Given the description of an element on the screen output the (x, y) to click on. 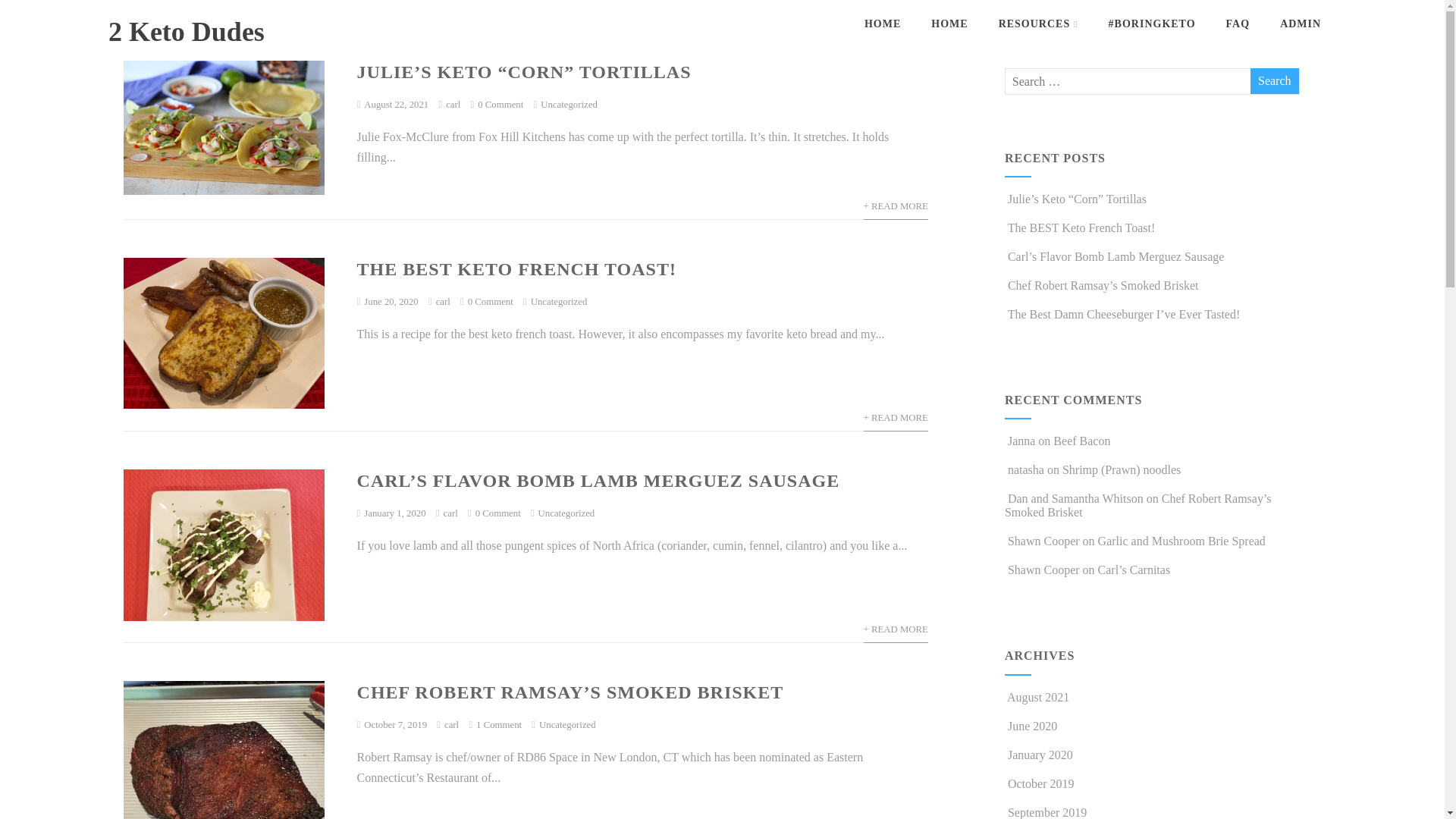
October 7, 2019 Element type: text (395, 724)
+ READ MORE Element type: text (895, 417)
0 Comment Element type: text (500, 104)
1 Comment Element type: text (498, 724)
Search Element type: text (1274, 81)
FAQ Element type: text (1238, 23)
The BEST Keto French Toast! Element type: text (1079, 227)
August 22, 2021 Element type: text (396, 104)
January 1, 2020 Element type: text (394, 513)
#BORINGKETO Element type: text (1152, 23)
Shrimp (Prawn) noodles Element type: text (1121, 469)
carl Element type: text (443, 301)
RESOURCES Element type: text (1038, 23)
+ READ MORE Element type: text (895, 629)
August 2021 Element type: text (1038, 696)
0 Comment Element type: text (497, 513)
HOME Element type: text (882, 23)
carl Element type: text (450, 513)
June 20, 2020 Element type: text (390, 301)
THE BEST KETO FRENCH TOAST! Element type: text (516, 269)
carl Element type: text (451, 724)
January 2020 Element type: text (1040, 754)
HOME Element type: text (949, 23)
0 Comment Element type: text (490, 301)
ADMIN Element type: text (1300, 23)
June 2020 Element type: text (1032, 725)
2 Keto Dudes Element type: text (186, 31)
October 2019 Element type: text (1040, 783)
Dan and Samantha Whitson Element type: text (1075, 498)
+ READ MORE Element type: text (895, 206)
Beef Bacon Element type: text (1081, 440)
Garlic and Mushroom Brie Spread Element type: text (1181, 540)
carl Element type: text (452, 104)
